Given the description of an element on the screen output the (x, y) to click on. 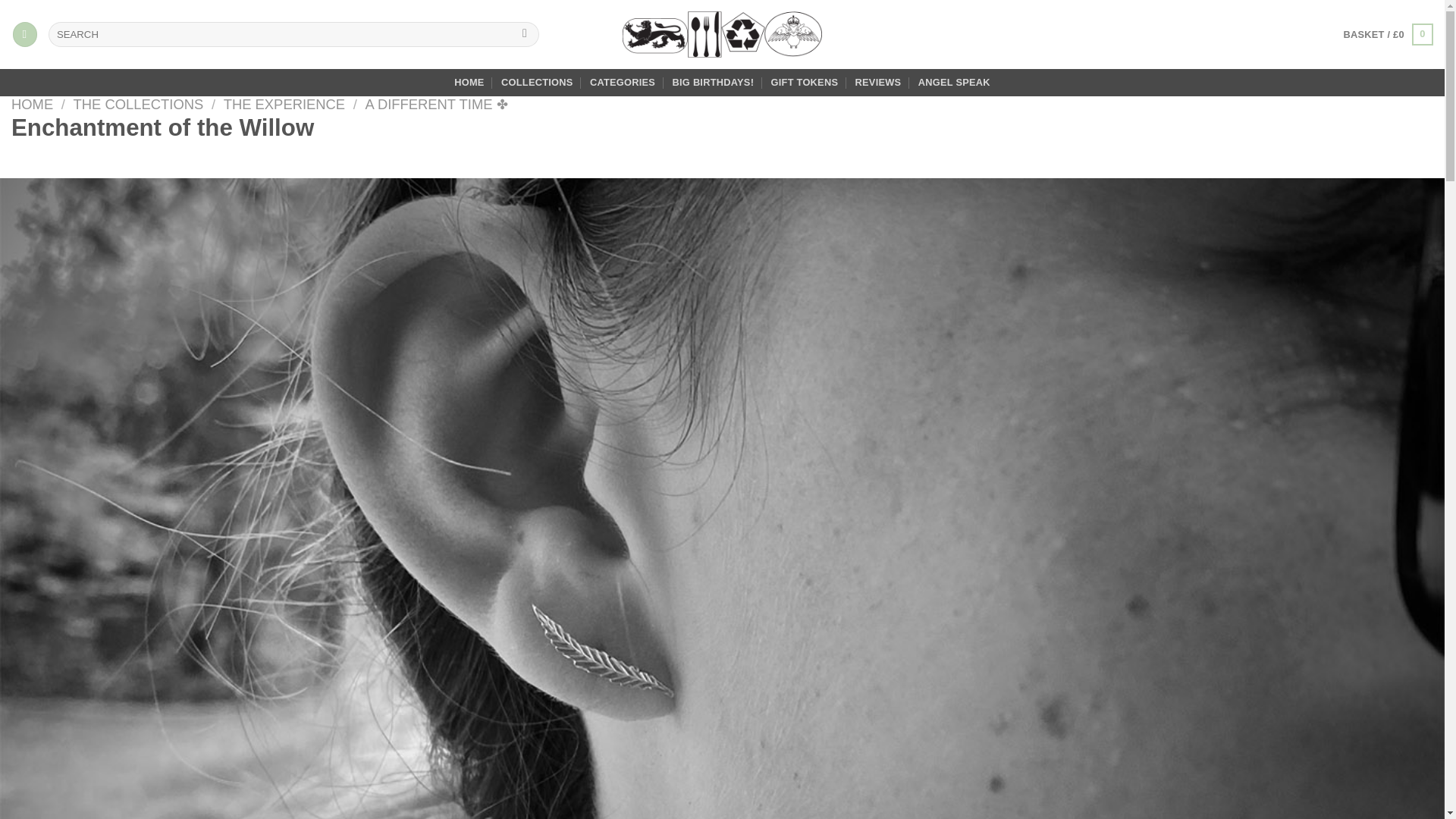
Basket (1388, 34)
BIG BIRTHDAYS! (713, 82)
ANGEL SPEAK (954, 82)
REVIEWS (878, 82)
GIFT TOKENS (804, 82)
COLLECTIONS (536, 82)
HOME (468, 82)
THE COLLECTIONS (138, 104)
CATEGORIES (622, 82)
